Given the description of an element on the screen output the (x, y) to click on. 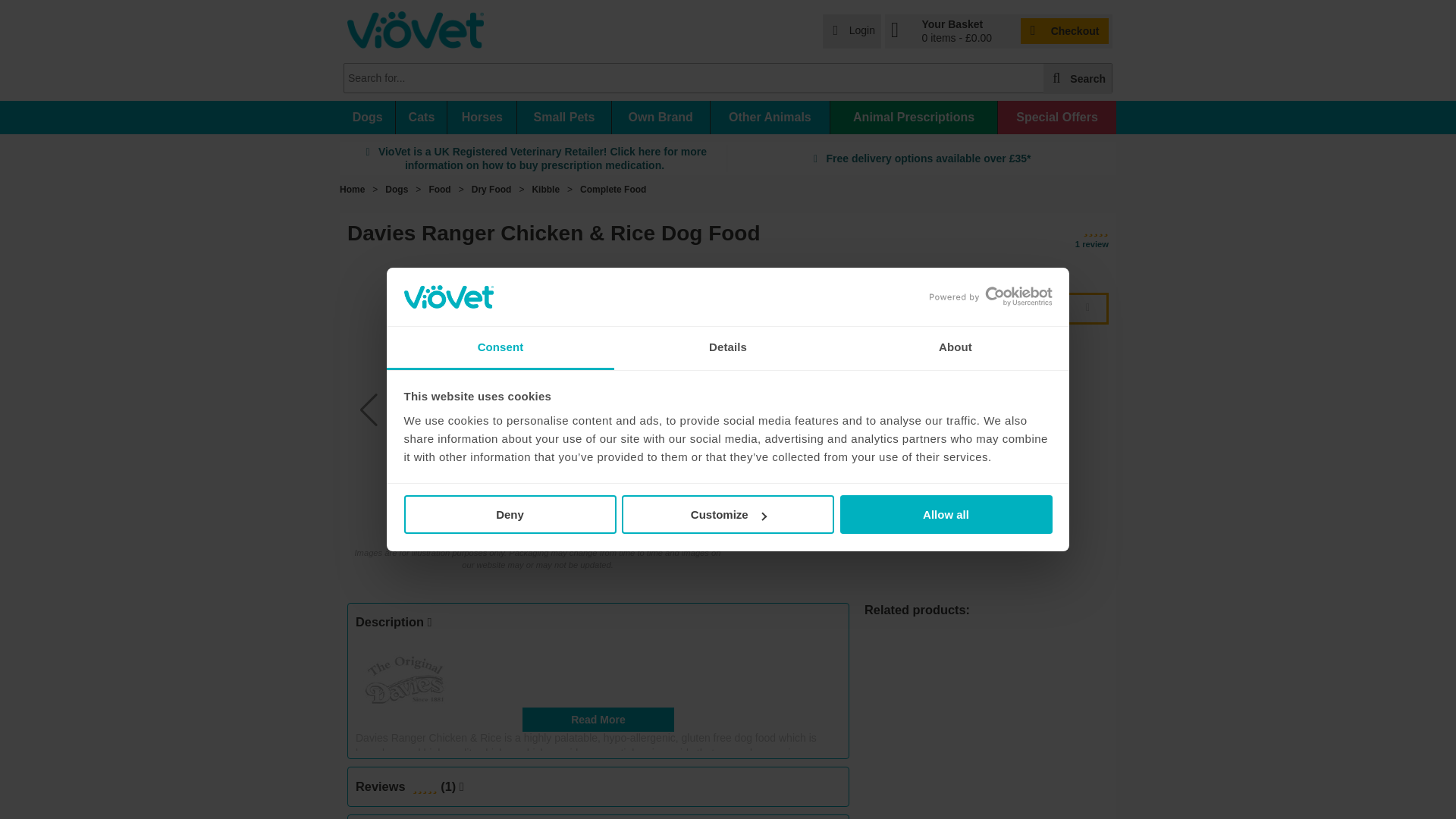
Details (727, 348)
Consent (500, 348)
About (954, 348)
